Given the description of an element on the screen output the (x, y) to click on. 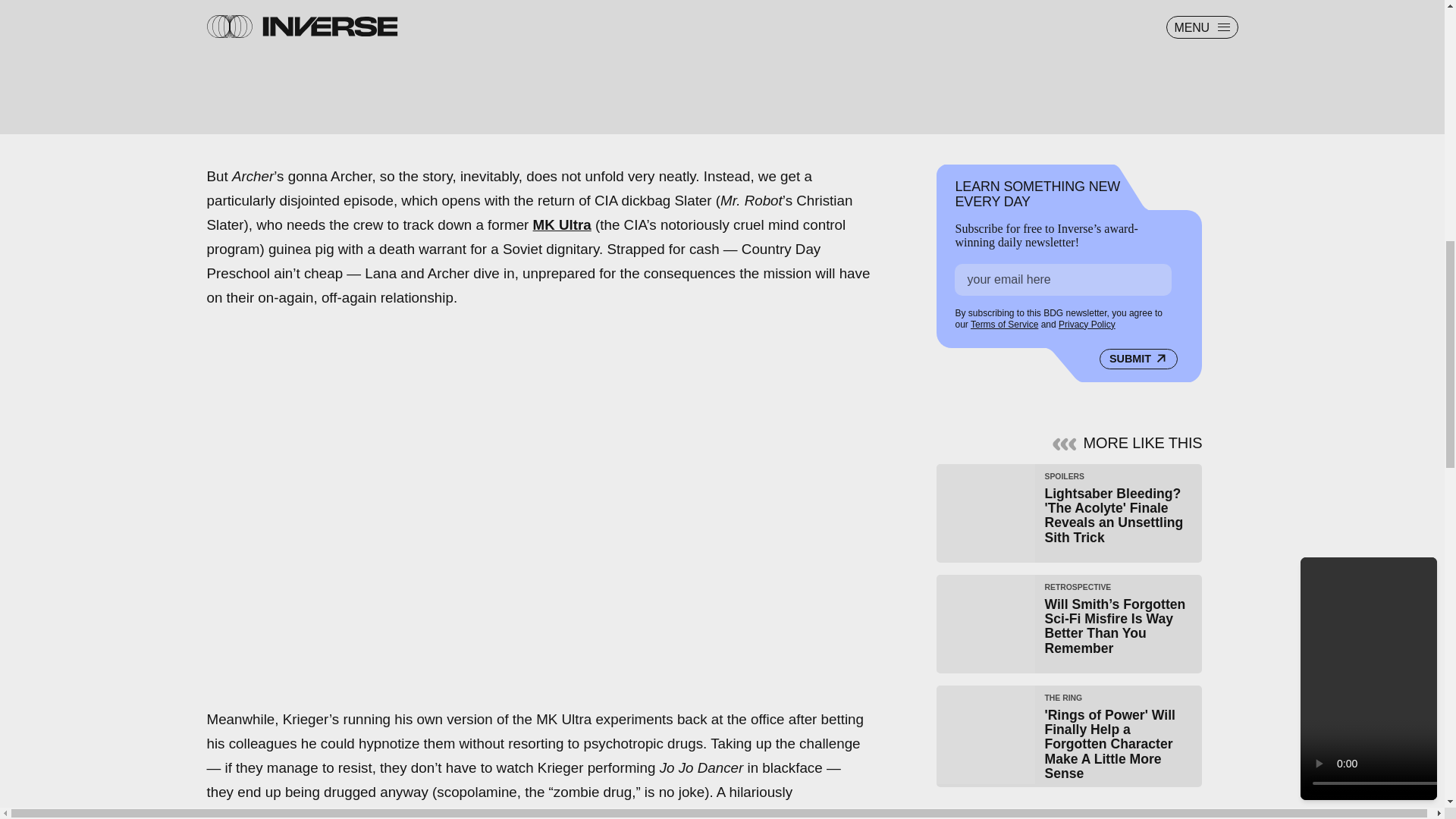
Privacy Policy (1086, 324)
SUBMIT (1138, 359)
MK Ultra (561, 224)
Terms of Service (1004, 324)
